Given the description of an element on the screen output the (x, y) to click on. 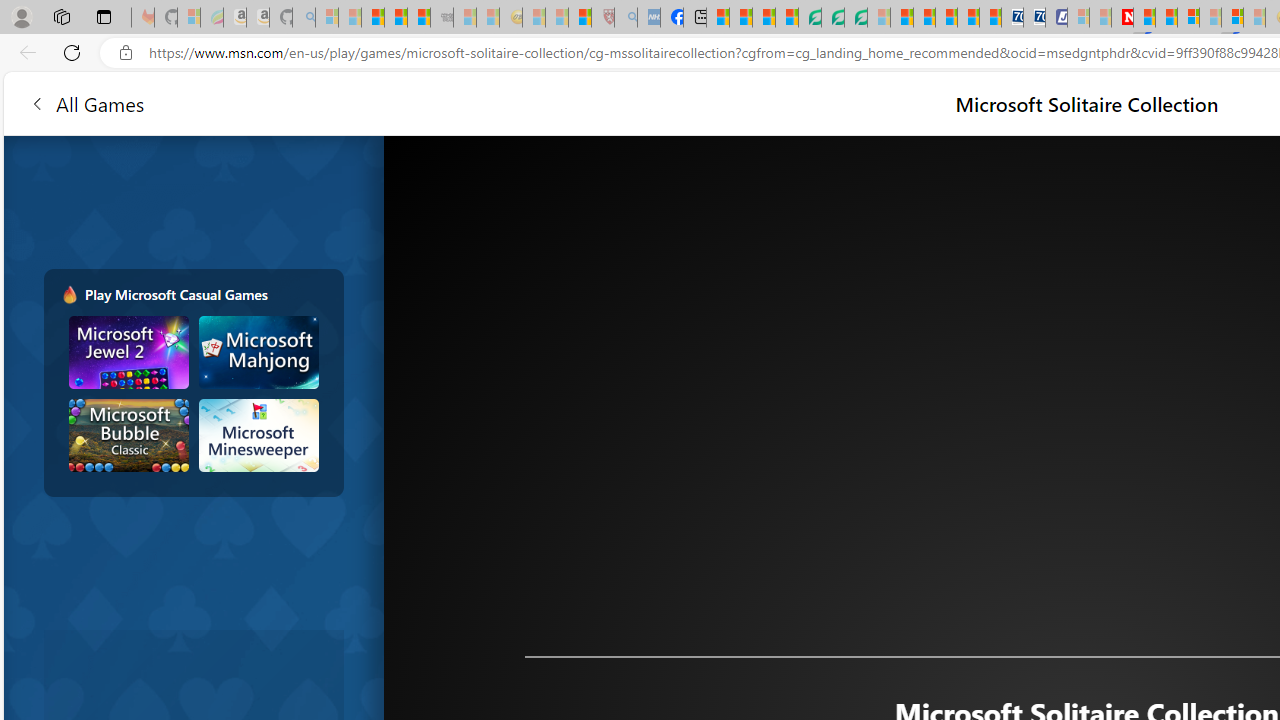
Latest Politics News & Archive | Newsweek.com (1122, 17)
Local - MSN (580, 17)
All Games (86, 102)
